Given the description of an element on the screen output the (x, y) to click on. 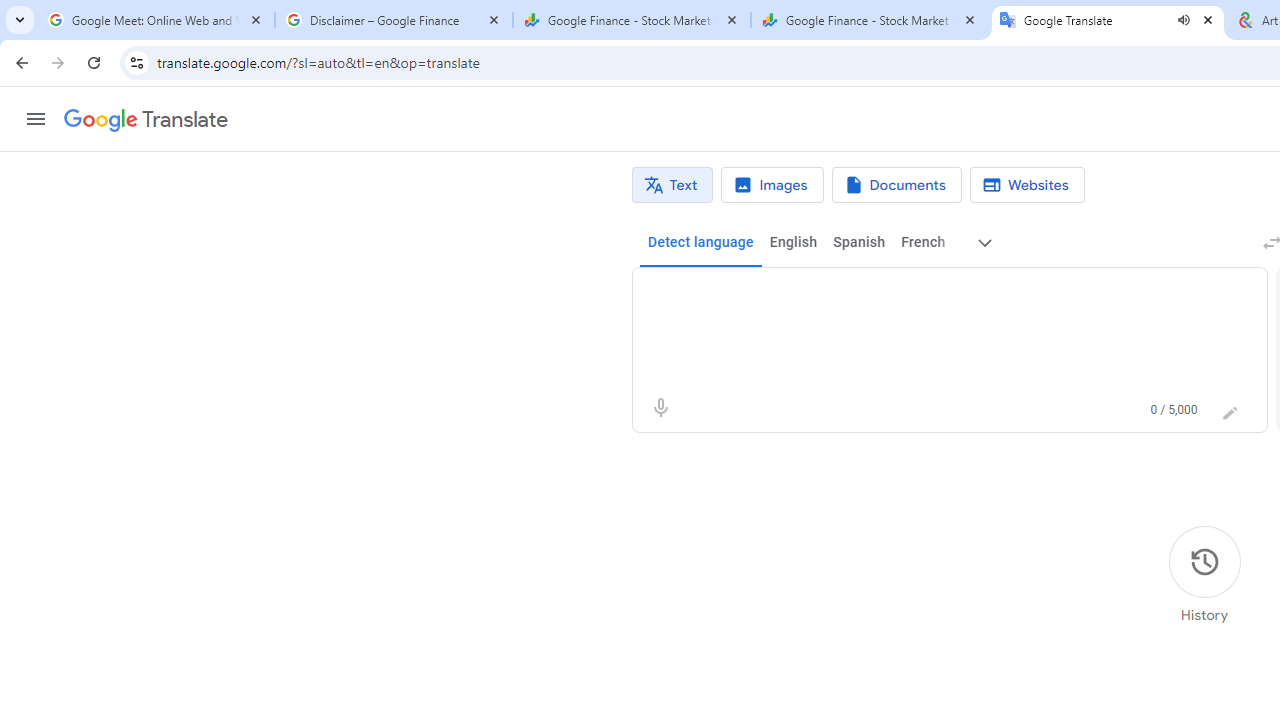
Google Translate - Audio playing (1108, 20)
Mute tab (1183, 20)
0 of 5,000 characters used (1173, 410)
Text translation (672, 185)
French (922, 242)
English (793, 242)
Google Translate (145, 120)
History (1204, 575)
